Given the description of an element on the screen output the (x, y) to click on. 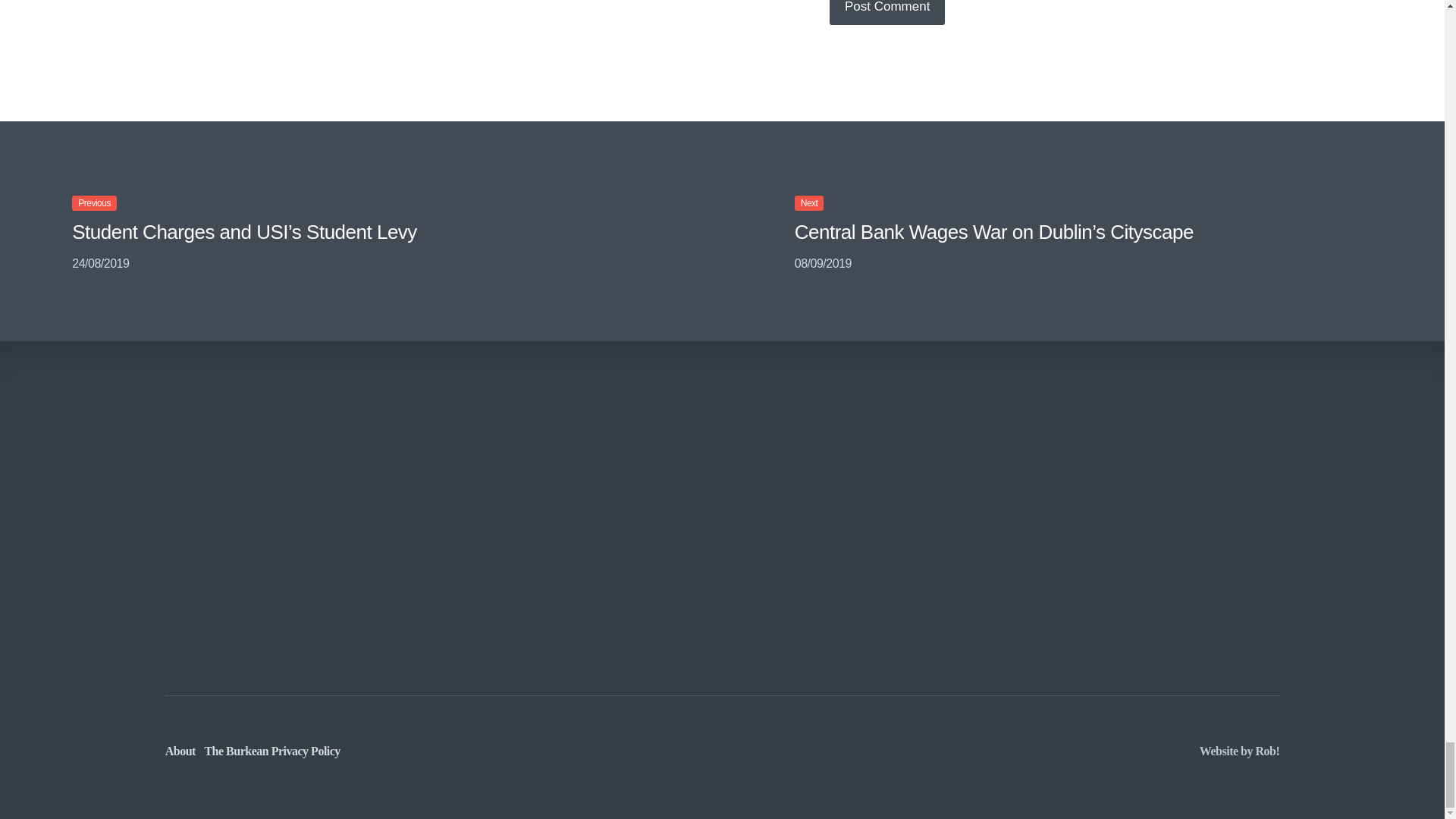
Post Comment (886, 12)
